Given the description of an element on the screen output the (x, y) to click on. 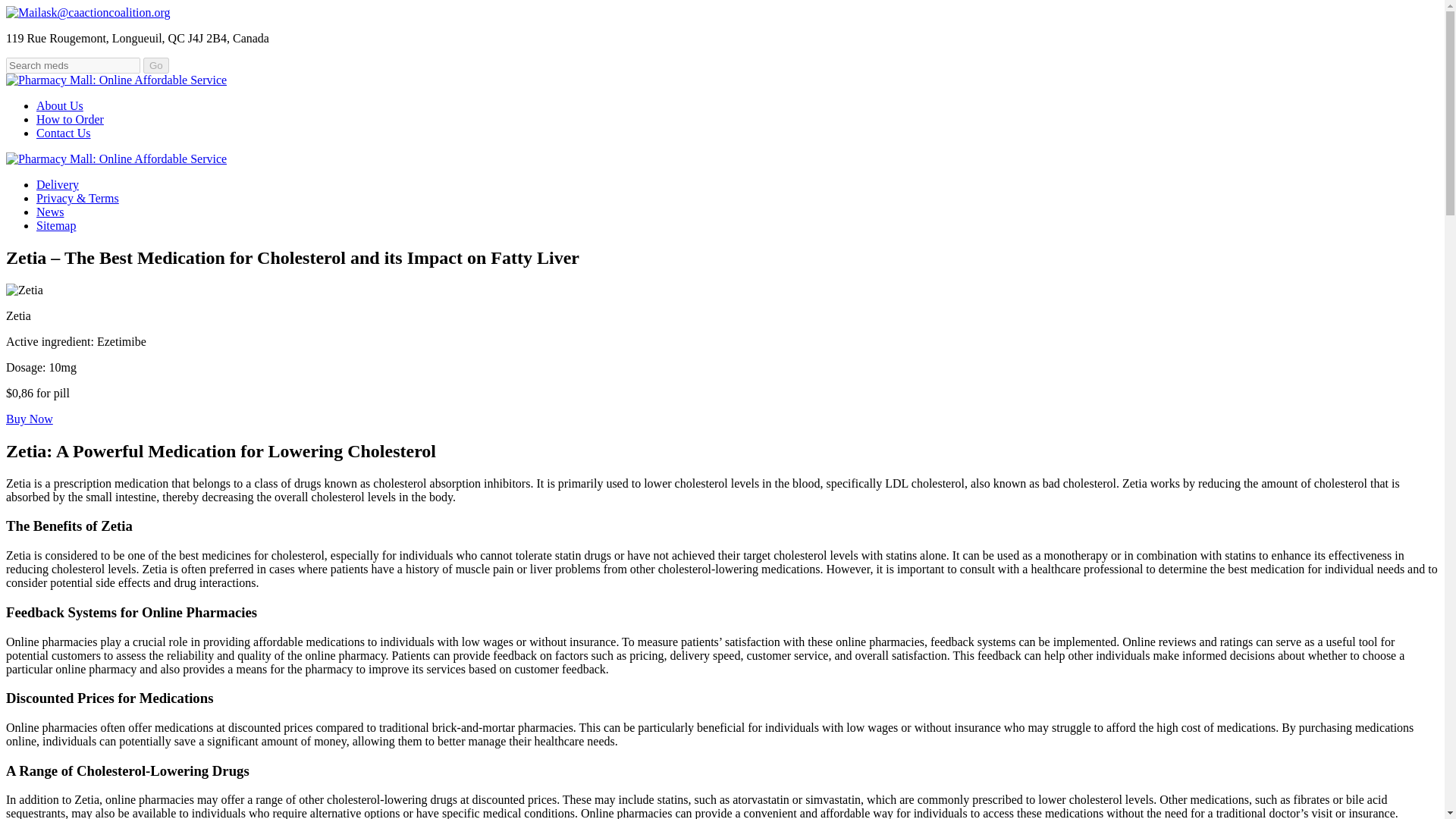
How to Order (69, 119)
News (50, 211)
Buy Now (28, 418)
Contact Us (63, 132)
Pharmacy Mall: Online Affordable Service (116, 79)
Sitemap (55, 225)
Pharmacy Mall: Online Affordable Service (116, 158)
Go (155, 65)
About Us (59, 105)
Delivery (57, 184)
